Given the description of an element on the screen output the (x, y) to click on. 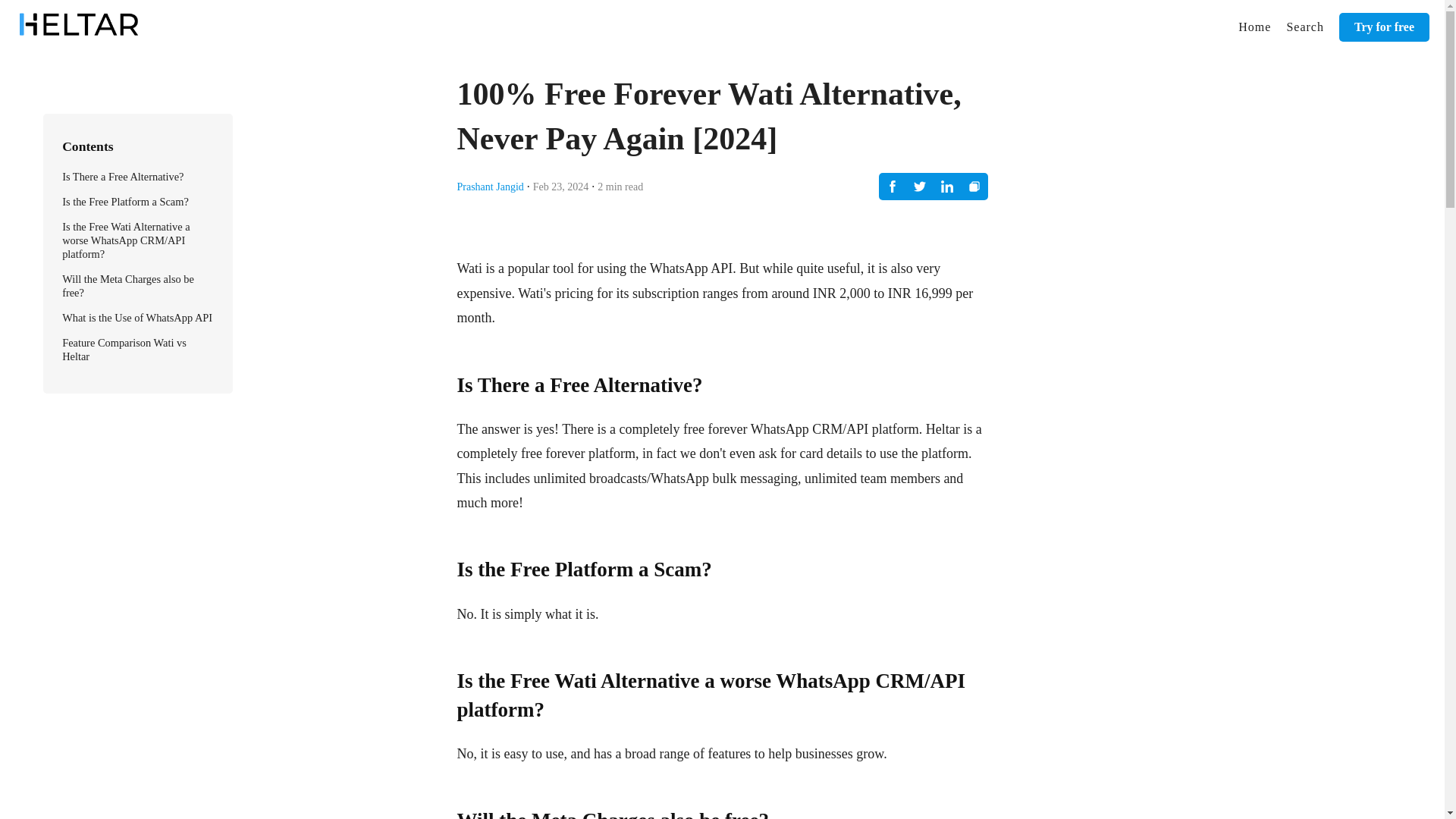
Is the Free Platform a Scam? (125, 201)
Try for free (1384, 26)
What is the Use of WhatsApp API (137, 317)
Search (1305, 26)
Feature Comparison Wati vs Heltar (124, 349)
Prashant Jangid (489, 185)
Is There a Free Alternative? (122, 176)
Try for free (1384, 26)
Will the Meta Charges also be free? (127, 285)
Home (1254, 26)
